Given the description of an element on the screen output the (x, y) to click on. 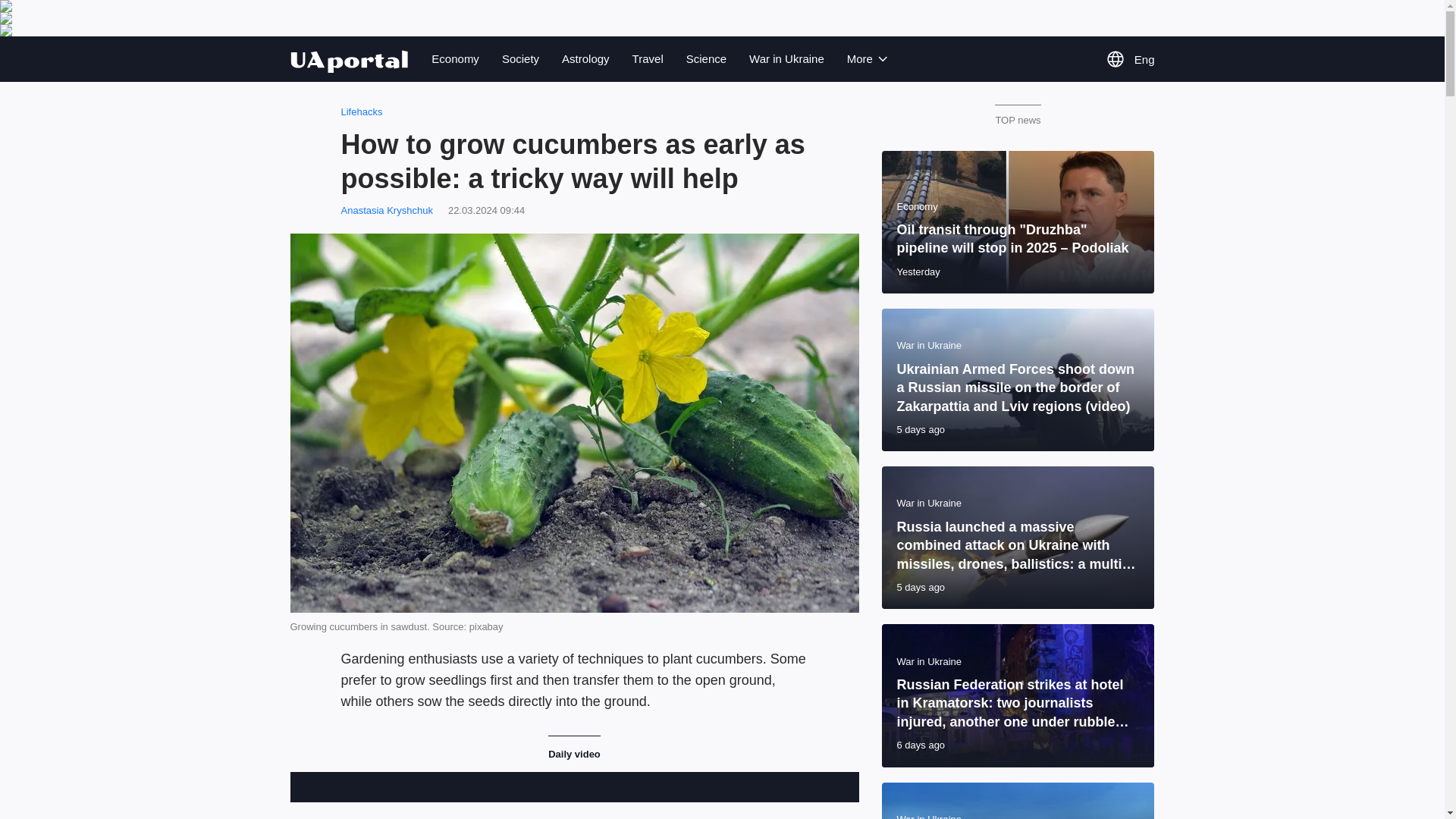
Science (705, 58)
Anastasia Kryshchuk (386, 210)
War in Ukraine (786, 58)
Travel (647, 58)
Economy (454, 58)
Society (520, 58)
Lifehacks (361, 111)
Astrology (586, 58)
